Given the description of an element on the screen output the (x, y) to click on. 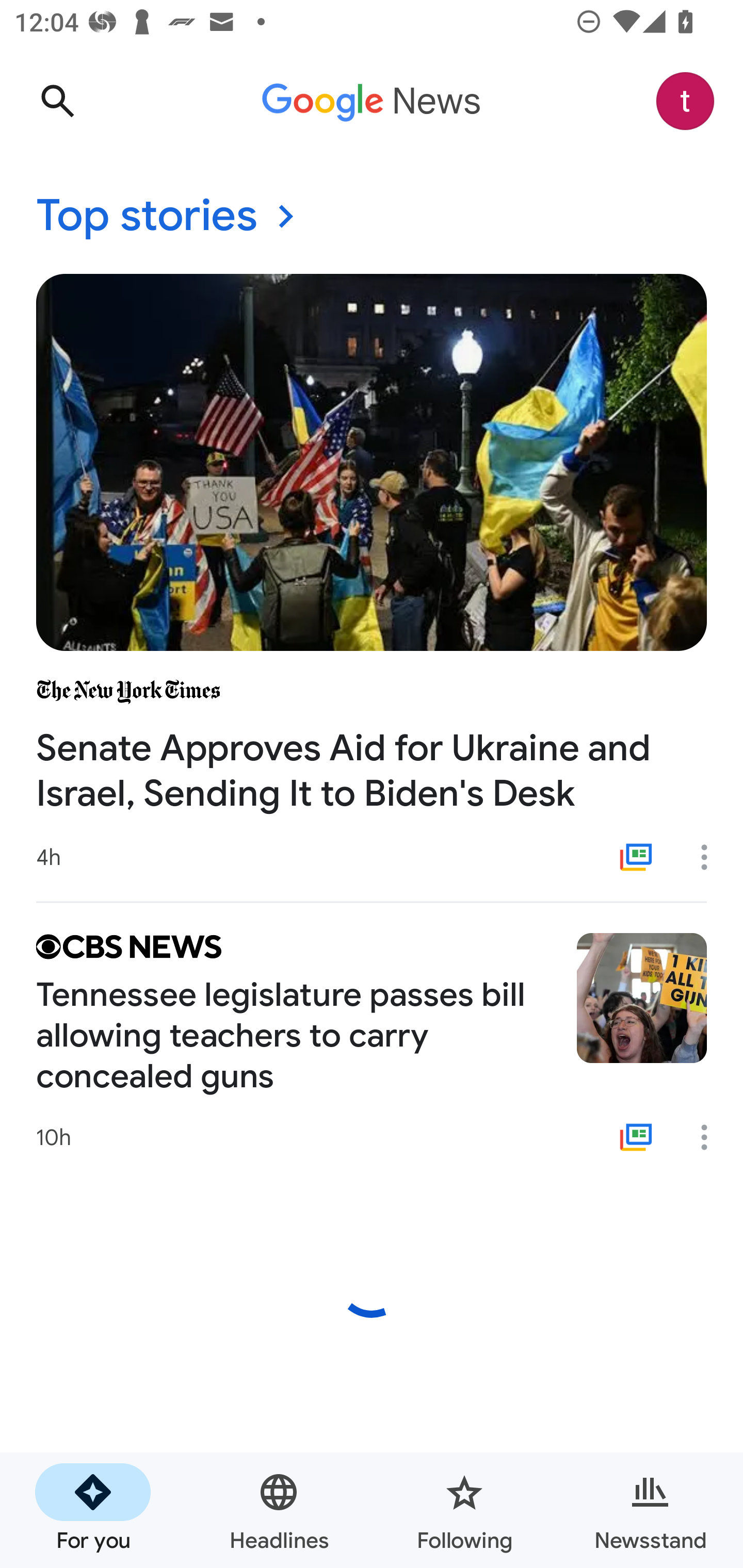
Search (57, 100)
Top stories (371, 216)
More options (711, 856)
More options (711, 1137)
For you (92, 1509)
Headlines (278, 1509)
Following (464, 1509)
Newsstand (650, 1509)
